Given the description of an element on the screen output the (x, y) to click on. 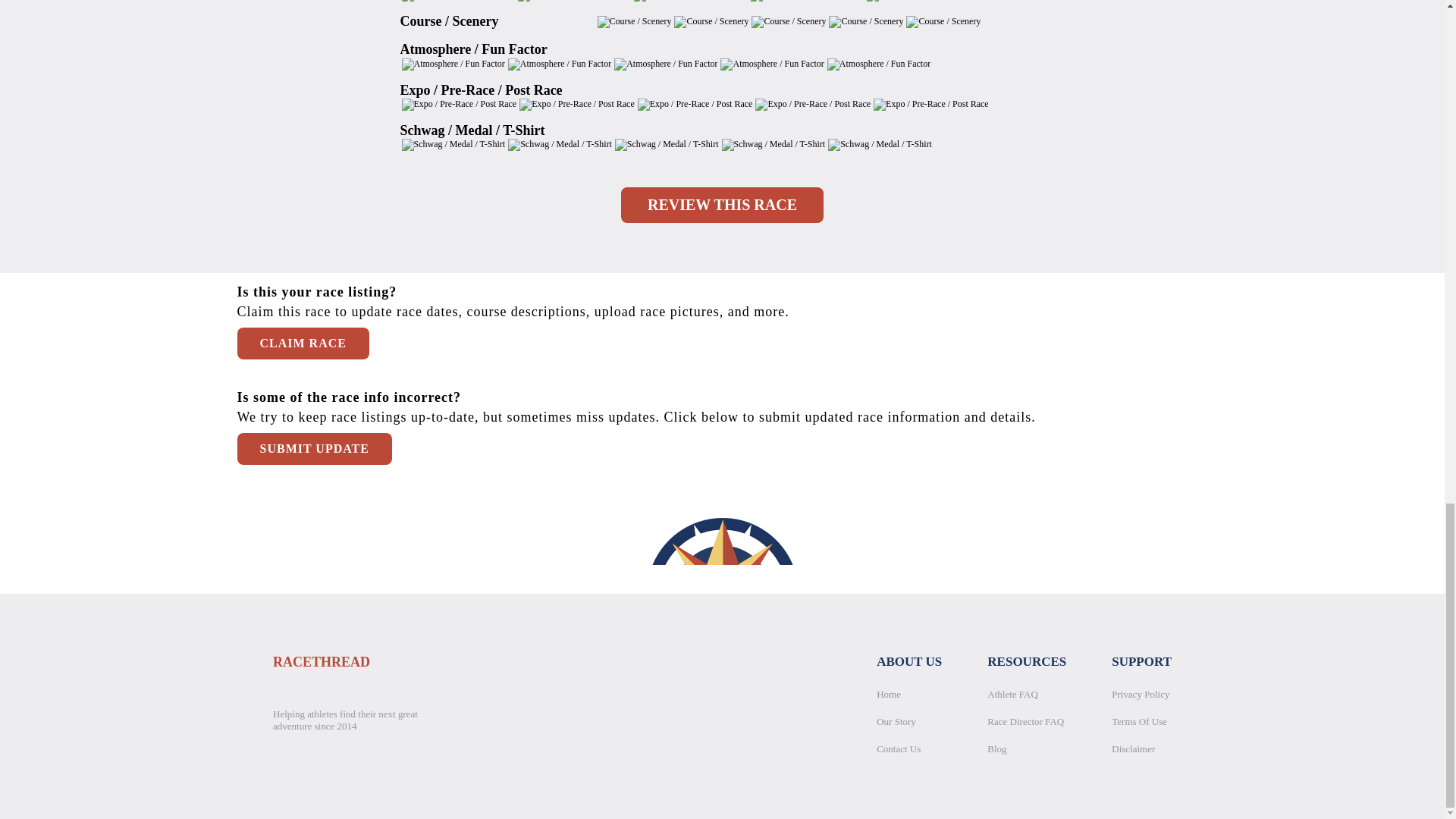
Race Director FAQ (1025, 721)
Contact Us (898, 748)
CLAIM RACE (301, 343)
SUBMIT UPDATE (313, 449)
Athlete FAQ (1012, 694)
REVIEW THIS RACE (722, 204)
Home (888, 694)
Our Story (895, 721)
